Given the description of an element on the screen output the (x, y) to click on. 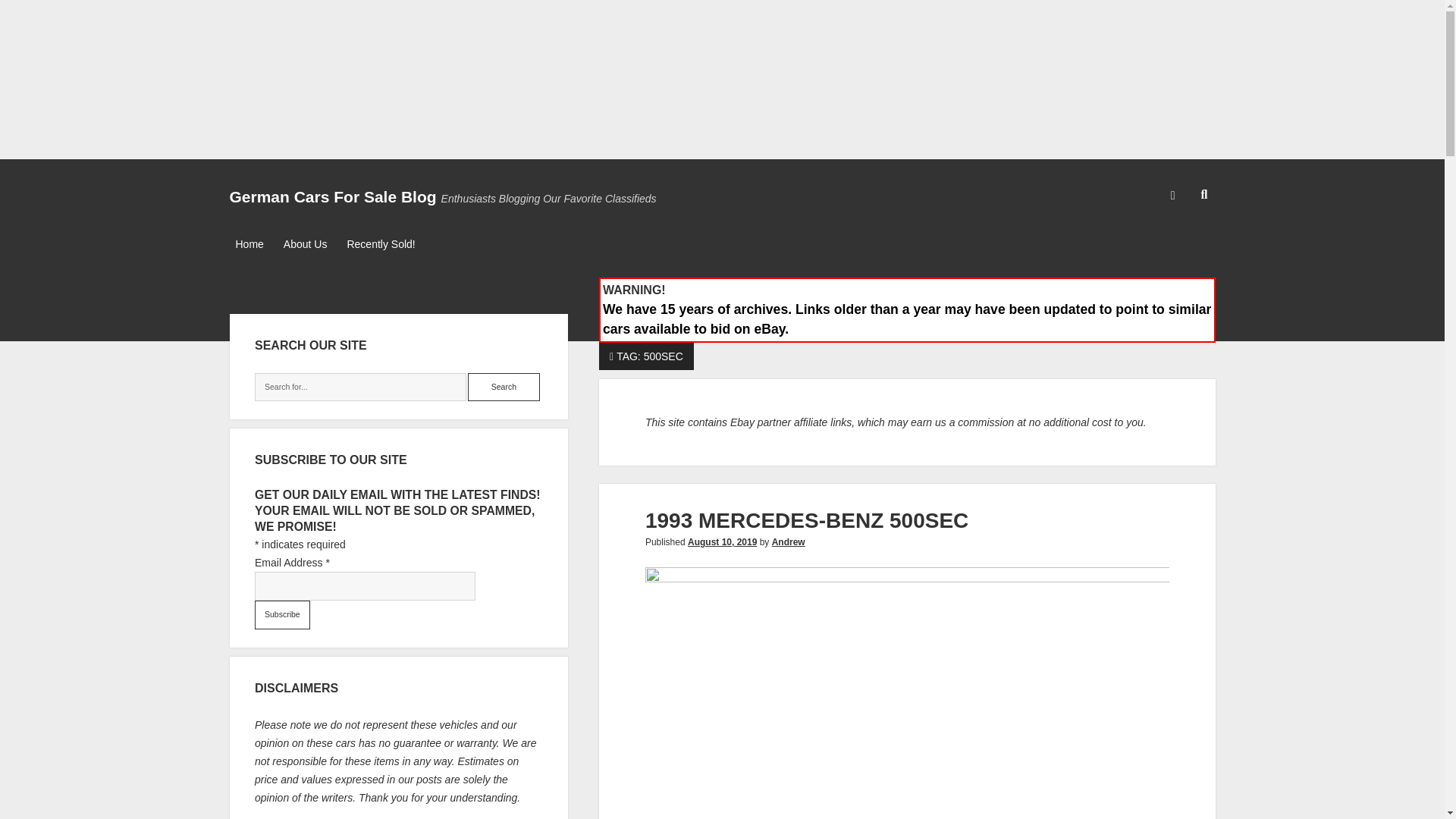
Search (503, 387)
August 10, 2019 (722, 542)
1993 MERCEDES-BENZ 500SEC (806, 520)
Search (503, 387)
Andrew (788, 542)
About Us (305, 244)
Recently Sold! (380, 244)
Subscribe (282, 614)
Home (248, 244)
German Cars For Sale Blog (331, 196)
Search for: (359, 387)
